Given the description of an element on the screen output the (x, y) to click on. 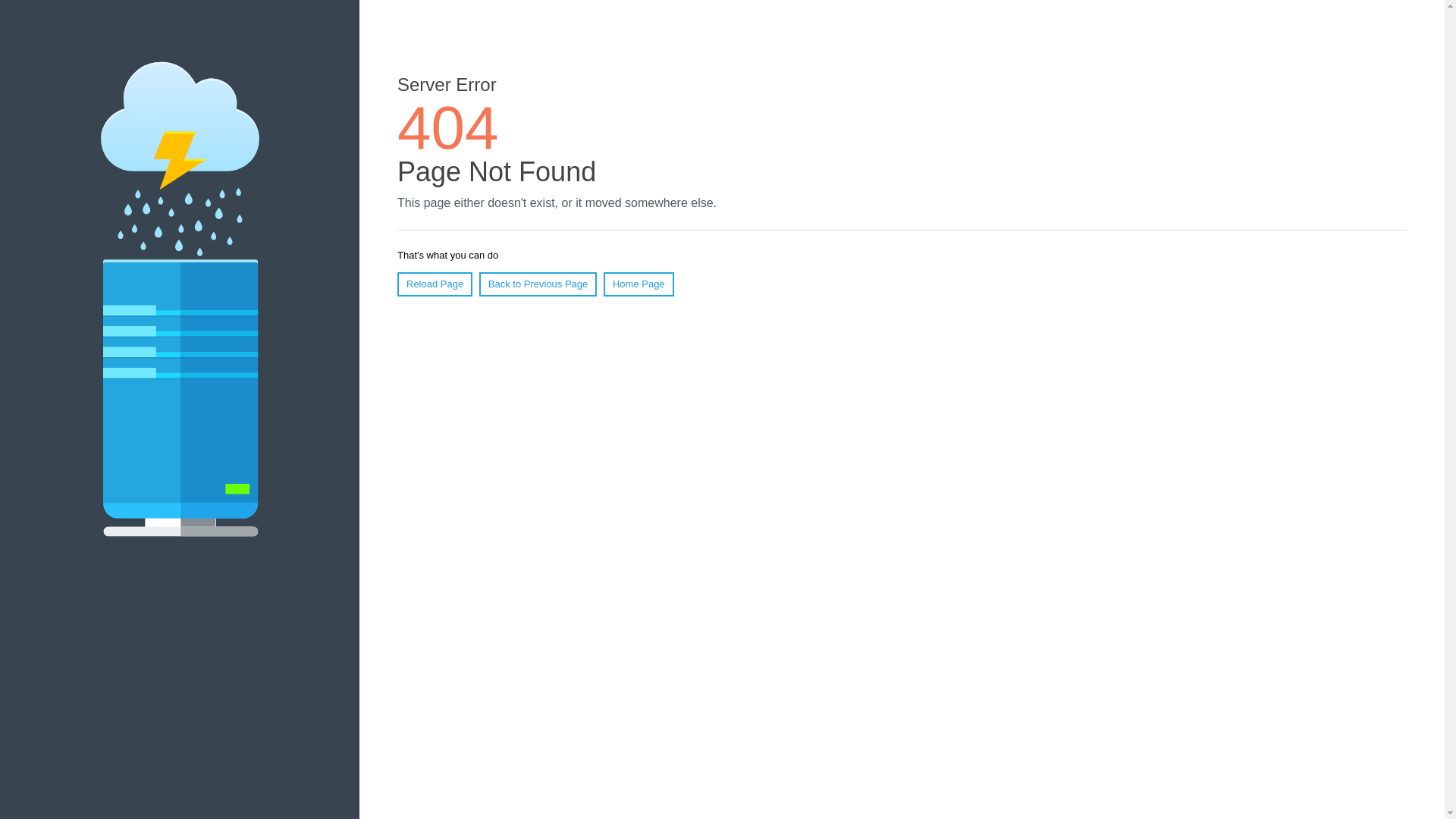
Reload Page Element type: text (434, 284)
Back to Previous Page Element type: text (538, 284)
Home Page Element type: text (638, 284)
